Given the description of an element on the screen output the (x, y) to click on. 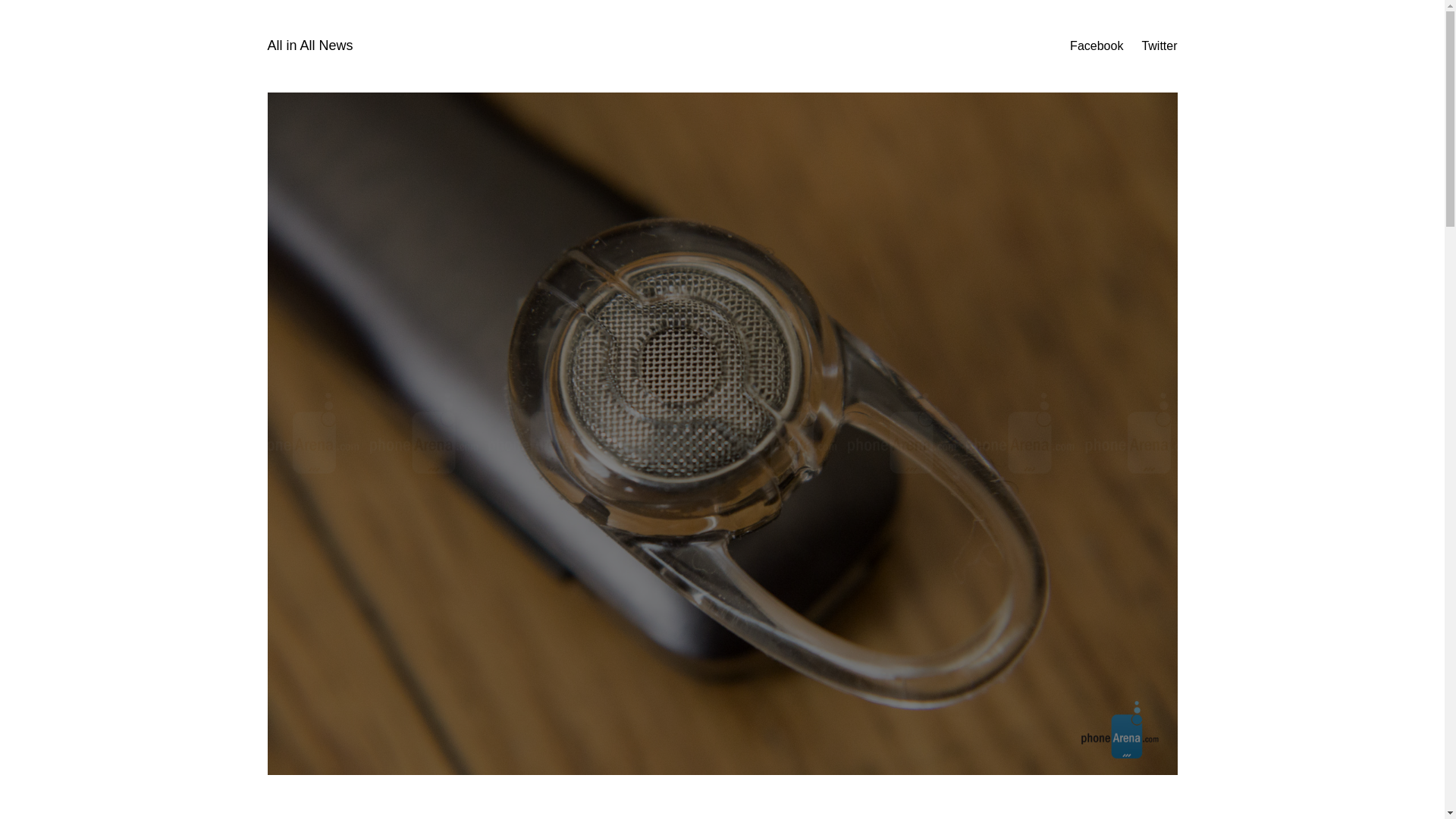
All in All News (309, 45)
Twitter (1158, 46)
Facebook (1096, 46)
